Given the description of an element on the screen output the (x, y) to click on. 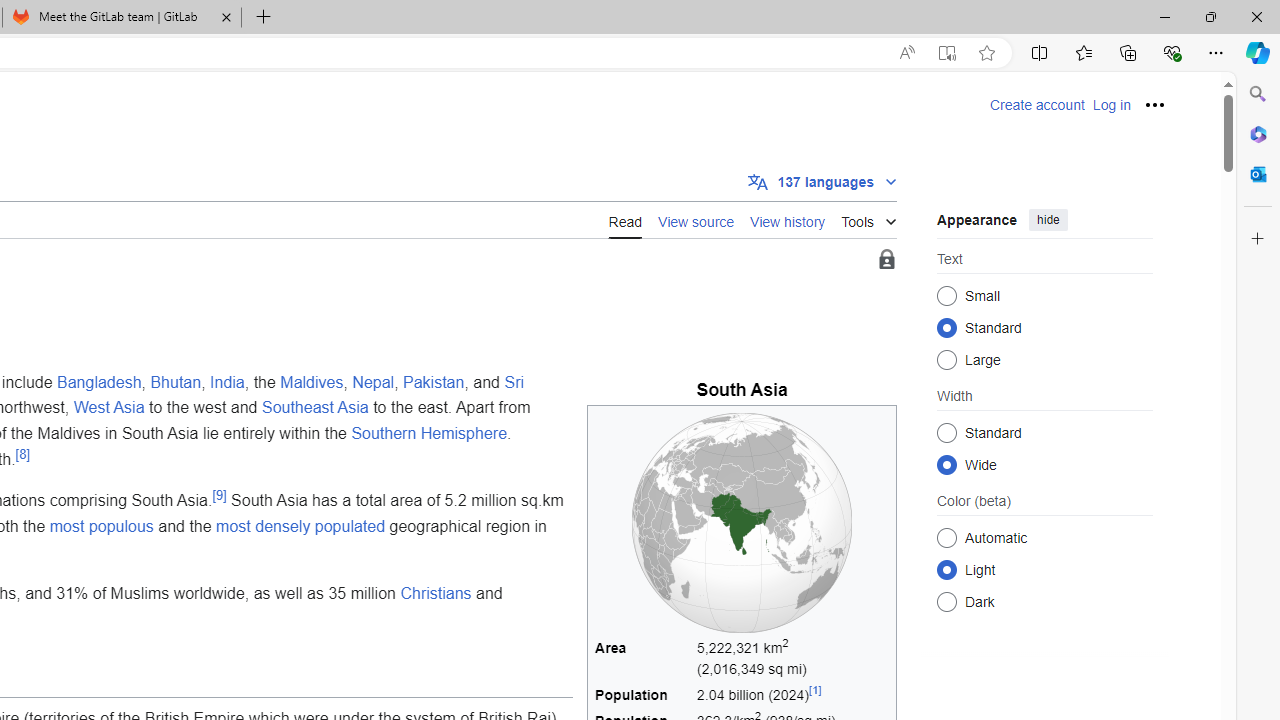
Wide (946, 464)
Create account (1037, 105)
Read (625, 219)
